Given the description of an element on the screen output the (x, y) to click on. 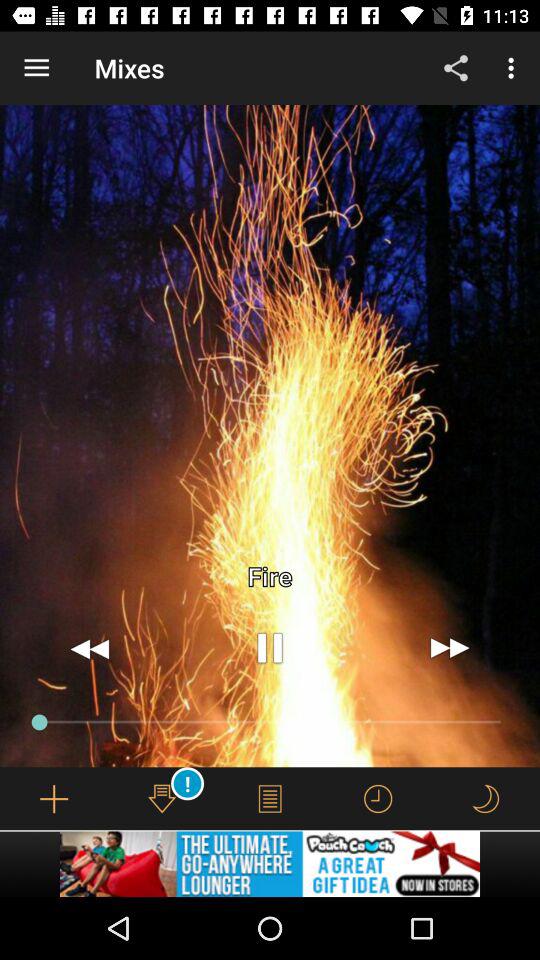
next mix (450, 648)
